Given the description of an element on the screen output the (x, y) to click on. 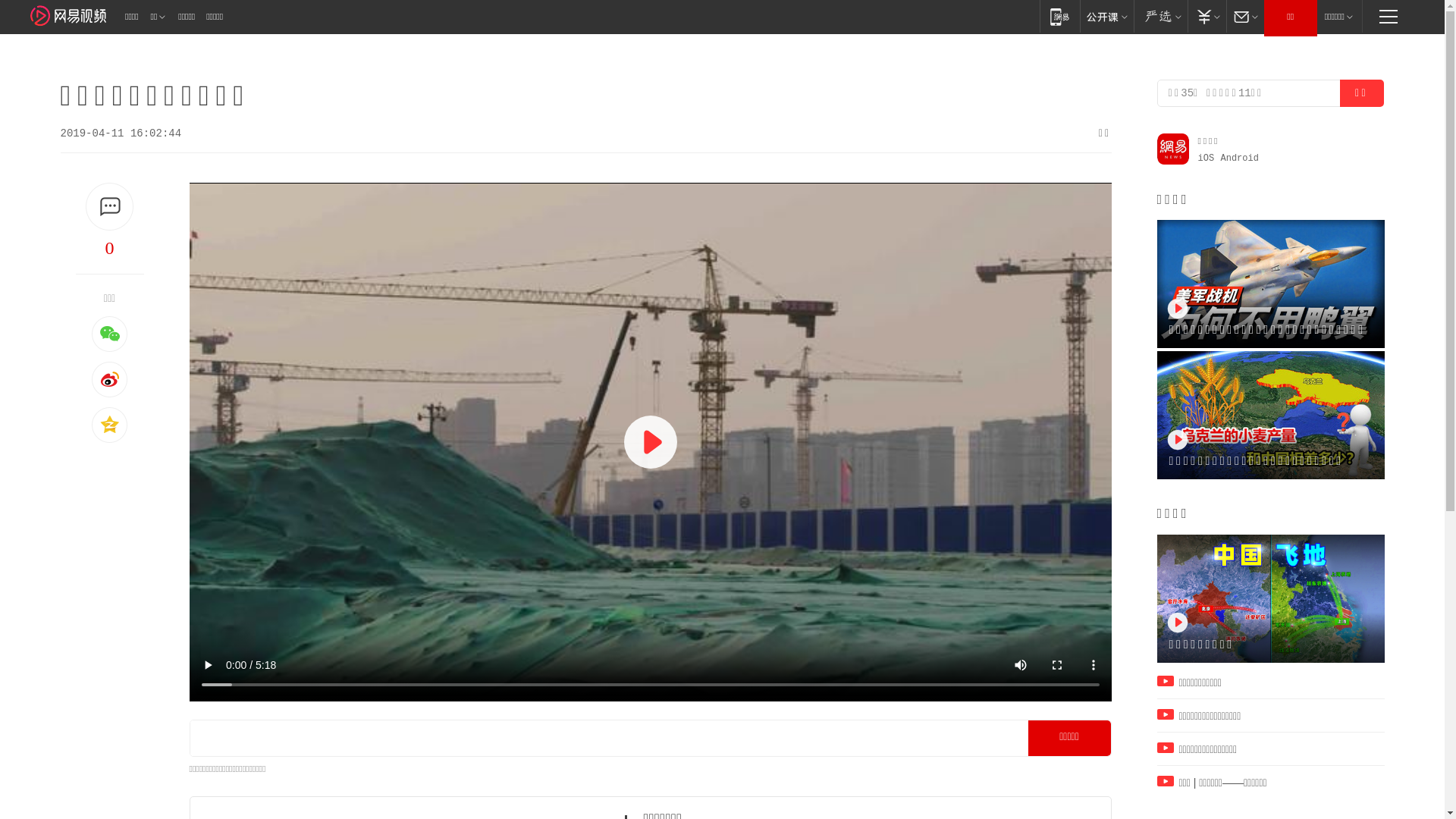
0 Element type: text (109, 247)
iOS Element type: text (1206, 158)
Android Element type: text (1239, 158)
